Given the description of an element on the screen output the (x, y) to click on. 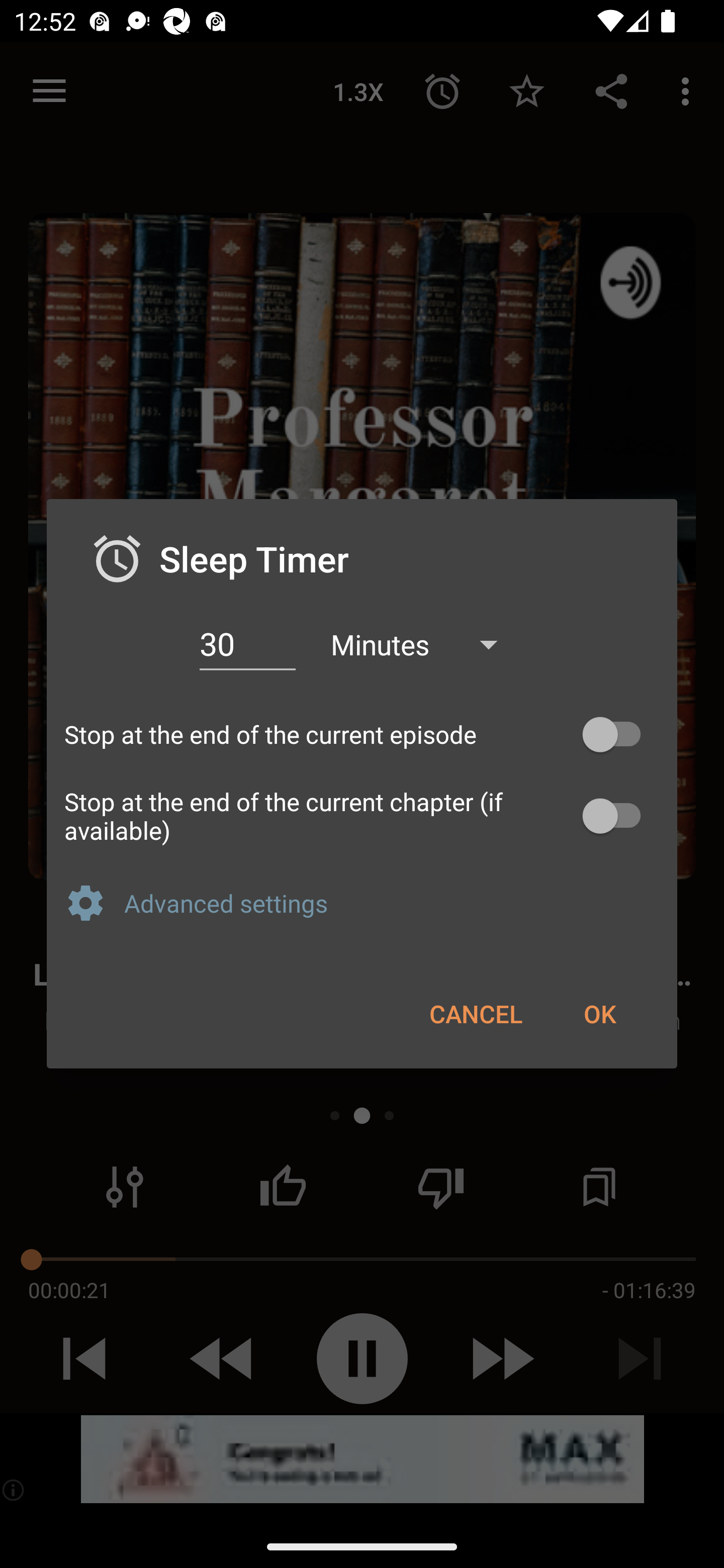
30 (247, 644)
Minutes (423, 643)
Stop at the end of the current episode (361, 734)
Advanced settings (391, 902)
CANCEL (475, 1013)
OK (599, 1013)
